Given the description of an element on the screen output the (x, y) to click on. 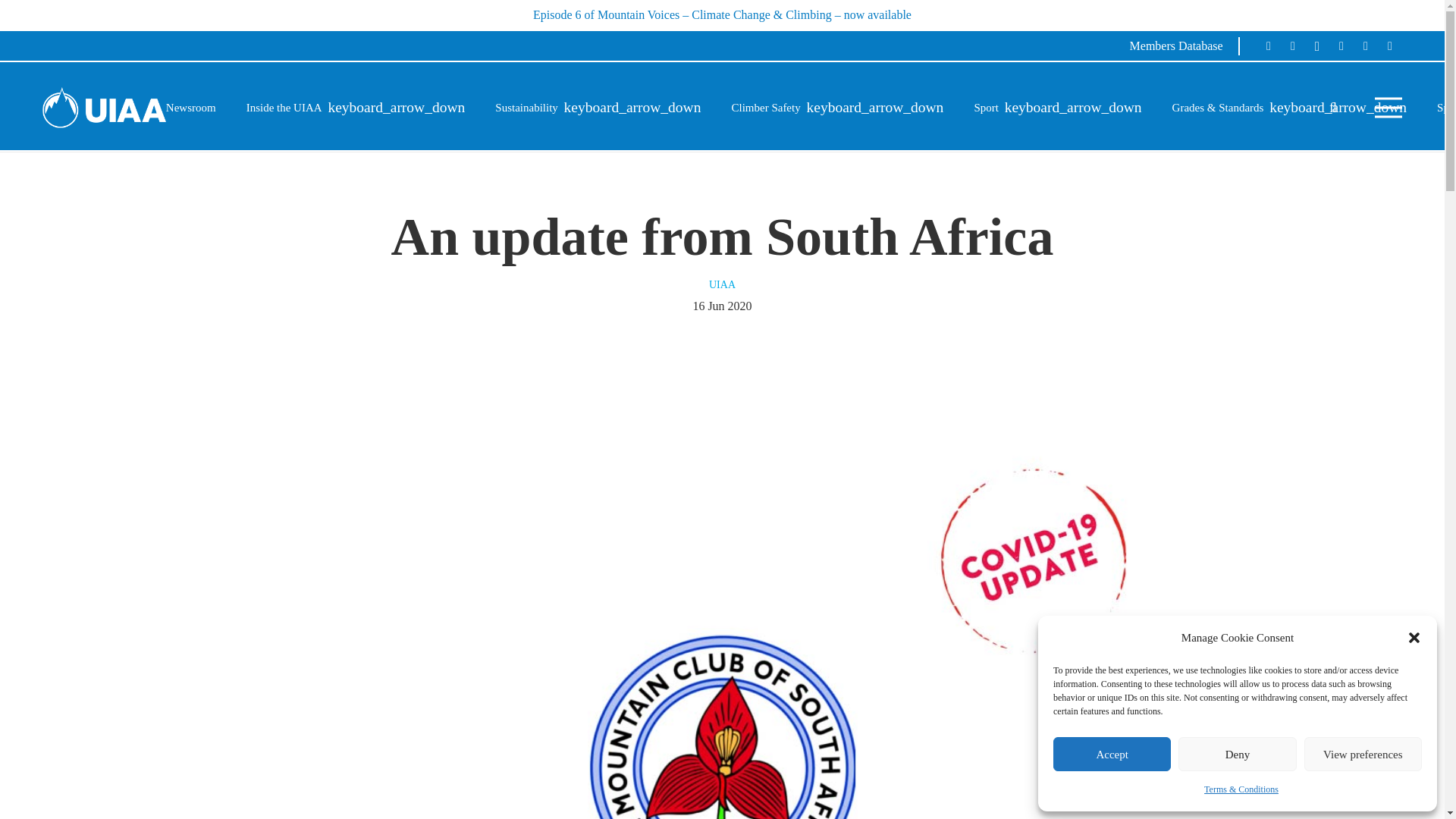
Instagram (1316, 46)
Deny (1236, 754)
Inside the UIAA (355, 107)
Accept (1111, 754)
LinkedIn (1389, 46)
Members Database (1184, 45)
Twitter (1292, 46)
Flickr (1365, 46)
Newsroom (191, 107)
View preferences (1363, 754)
YouTube (1341, 46)
Facebook (1268, 46)
